Given the description of an element on the screen output the (x, y) to click on. 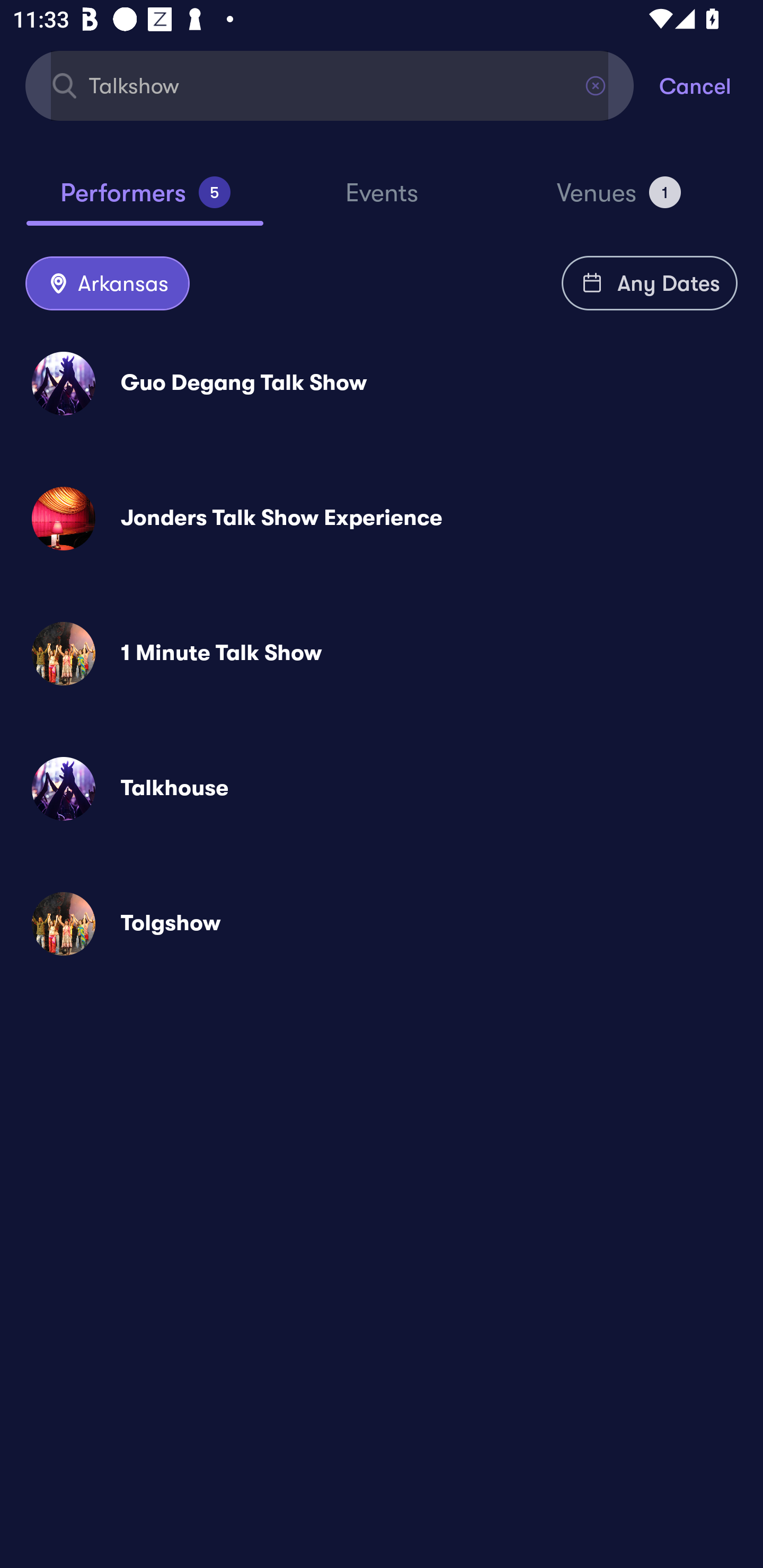
Talkshow Find (329, 85)
Talkshow Find (329, 85)
Cancel (711, 85)
Performers 5 (144, 200)
Venues 1 (618, 200)
Events (381, 201)
Any Dates (649, 282)
Arkansas (107, 283)
Guo Degang Talk Show (381, 383)
Jonders Talk Show Experience (381, 518)
1 Minute Talk Show (381, 652)
Talkhouse (381, 788)
Tolgshow (381, 924)
